Given the description of an element on the screen output the (x, y) to click on. 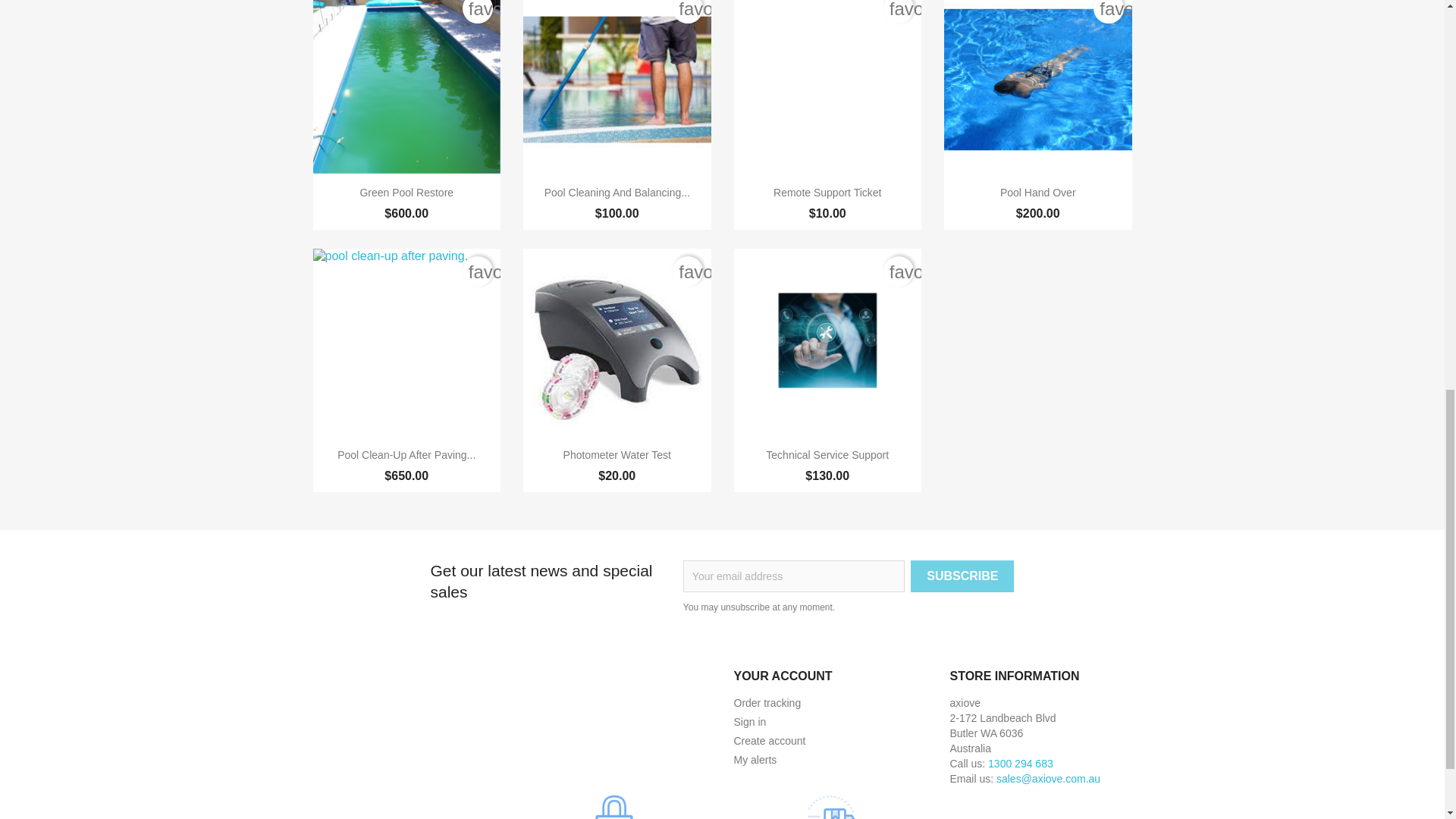
Subscribe (962, 576)
Log in to your customer account (750, 721)
My alerts (755, 759)
Order tracking (767, 702)
Create account (769, 740)
